Given the description of an element on the screen output the (x, y) to click on. 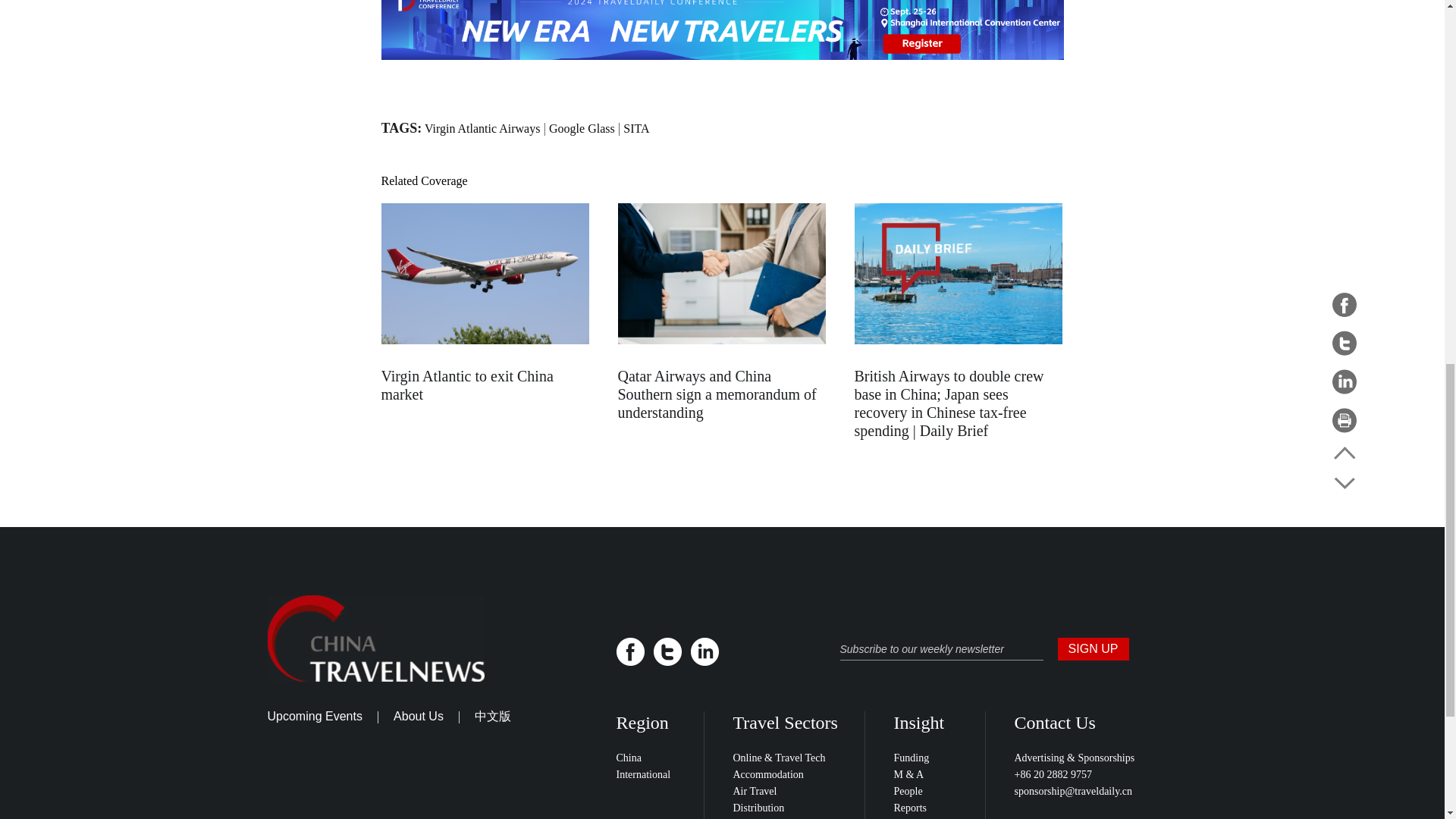
About Us (418, 716)
Google Glass (581, 128)
SITA (636, 128)
Upcoming Events (313, 716)
Virgin Atlantic to exit China market (466, 384)
Virgin Atlantic Airways (482, 128)
SIGN UP (1092, 649)
